Given the description of an element on the screen output the (x, y) to click on. 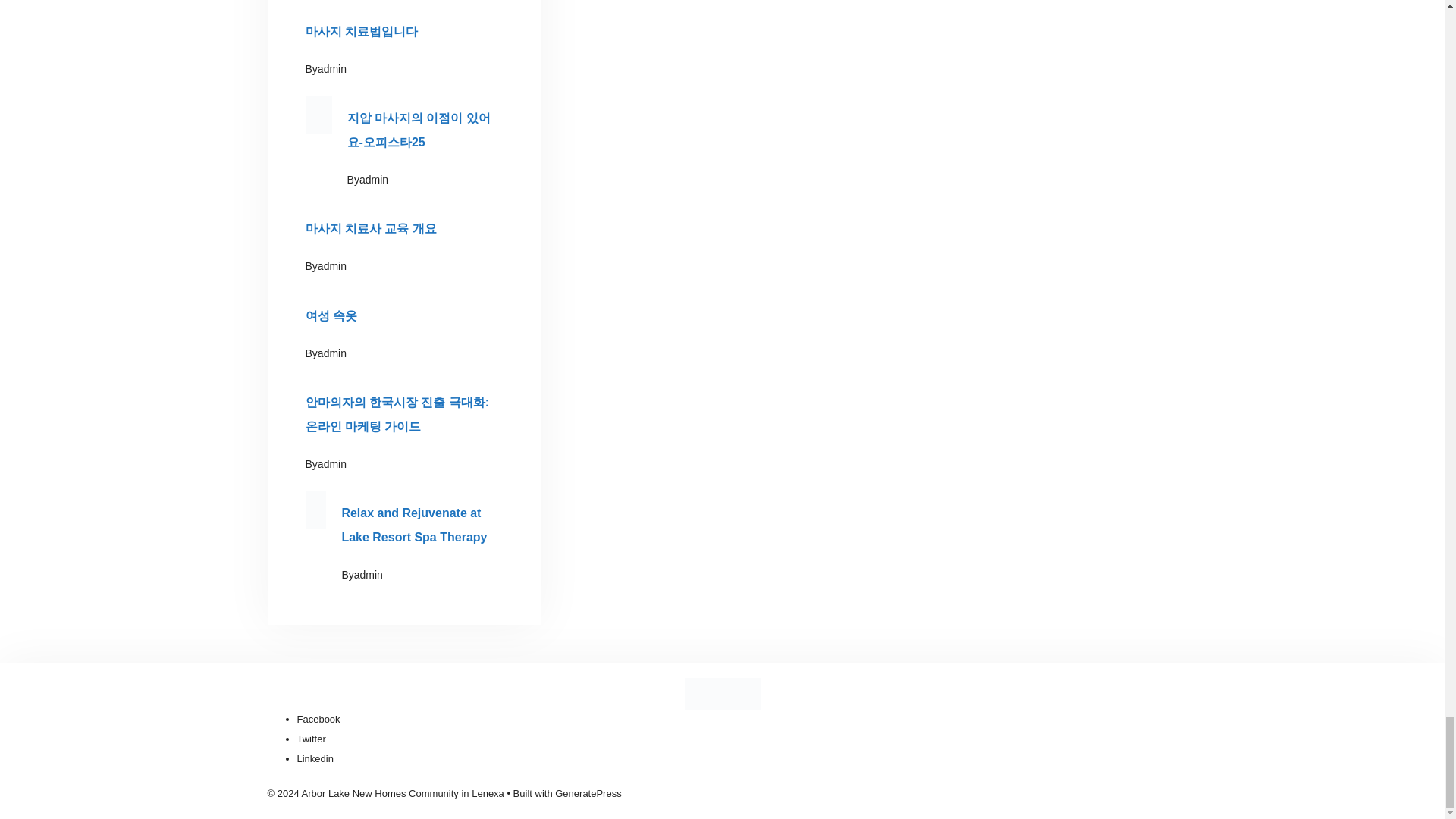
Facebook (318, 718)
peak (722, 694)
Relax and Rejuvenate at Lake Resort Spa Therapy (413, 524)
